Given the description of an element on the screen output the (x, y) to click on. 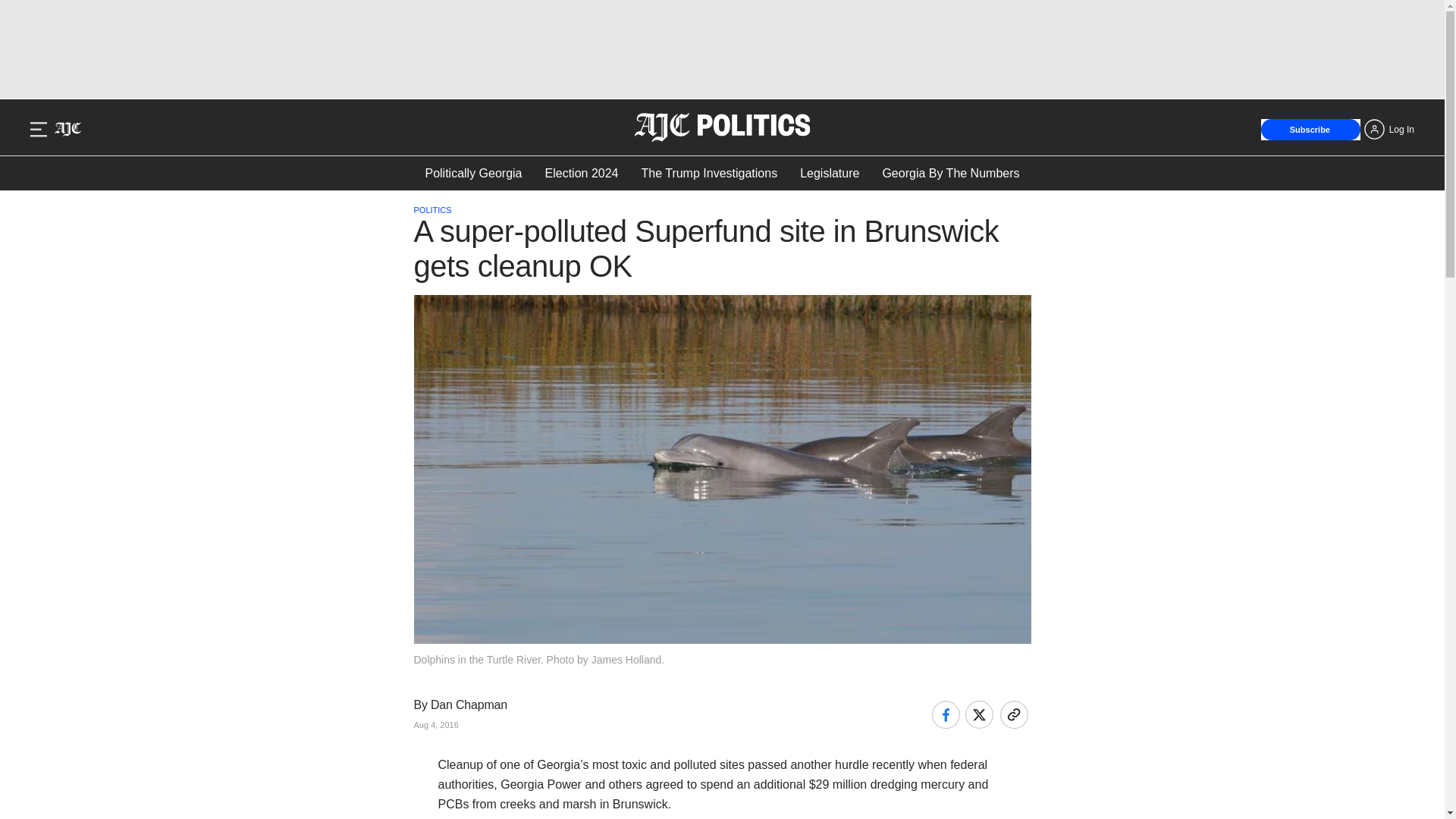
Georgia By The Numbers (950, 173)
The Trump Investigations (708, 173)
Politically Georgia (473, 173)
Election 2024 (581, 173)
Legislature (829, 173)
